Given the description of an element on the screen output the (x, y) to click on. 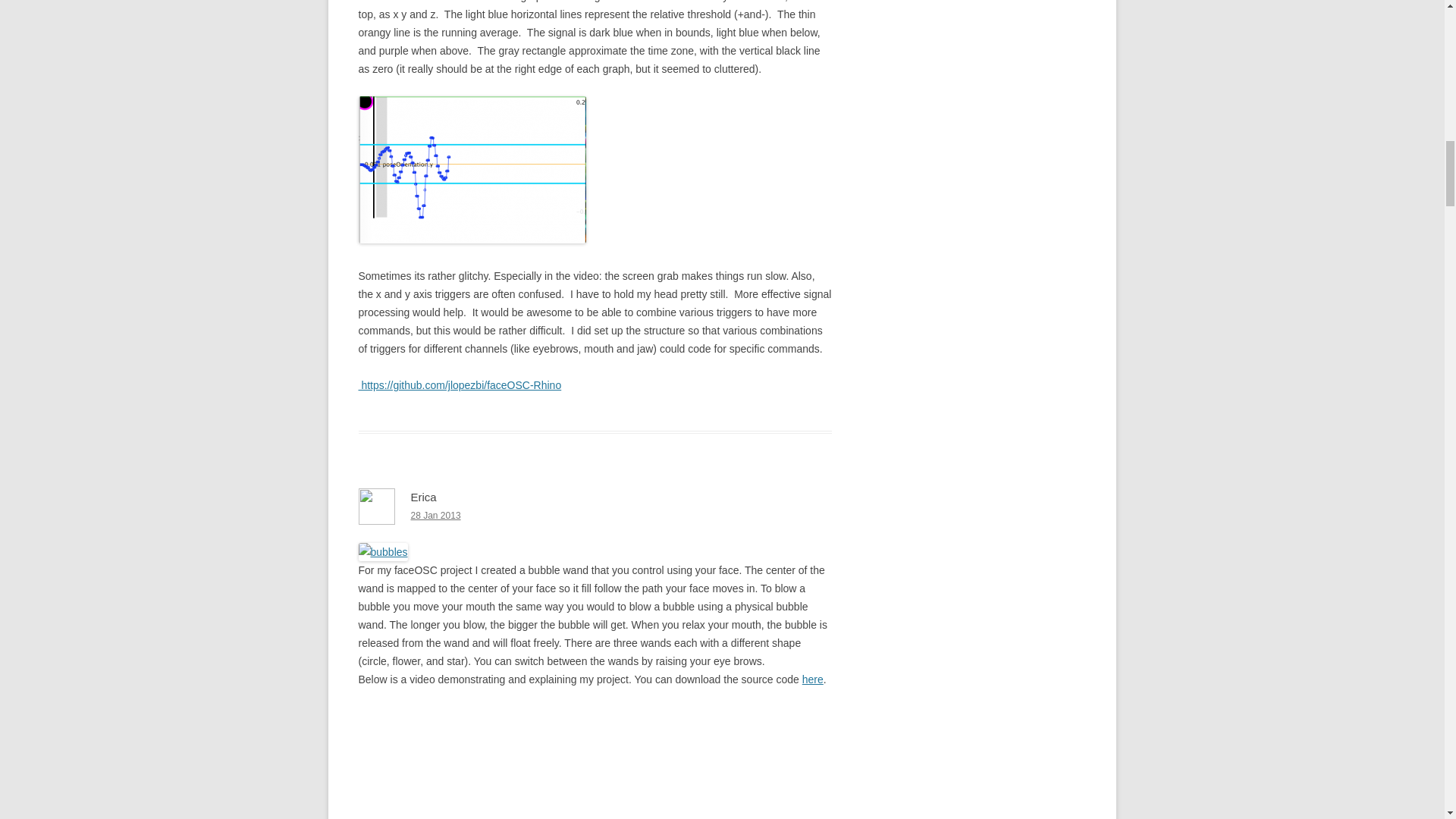
Permalink to Bubbles! (435, 515)
